Given the description of an element on the screen output the (x, y) to click on. 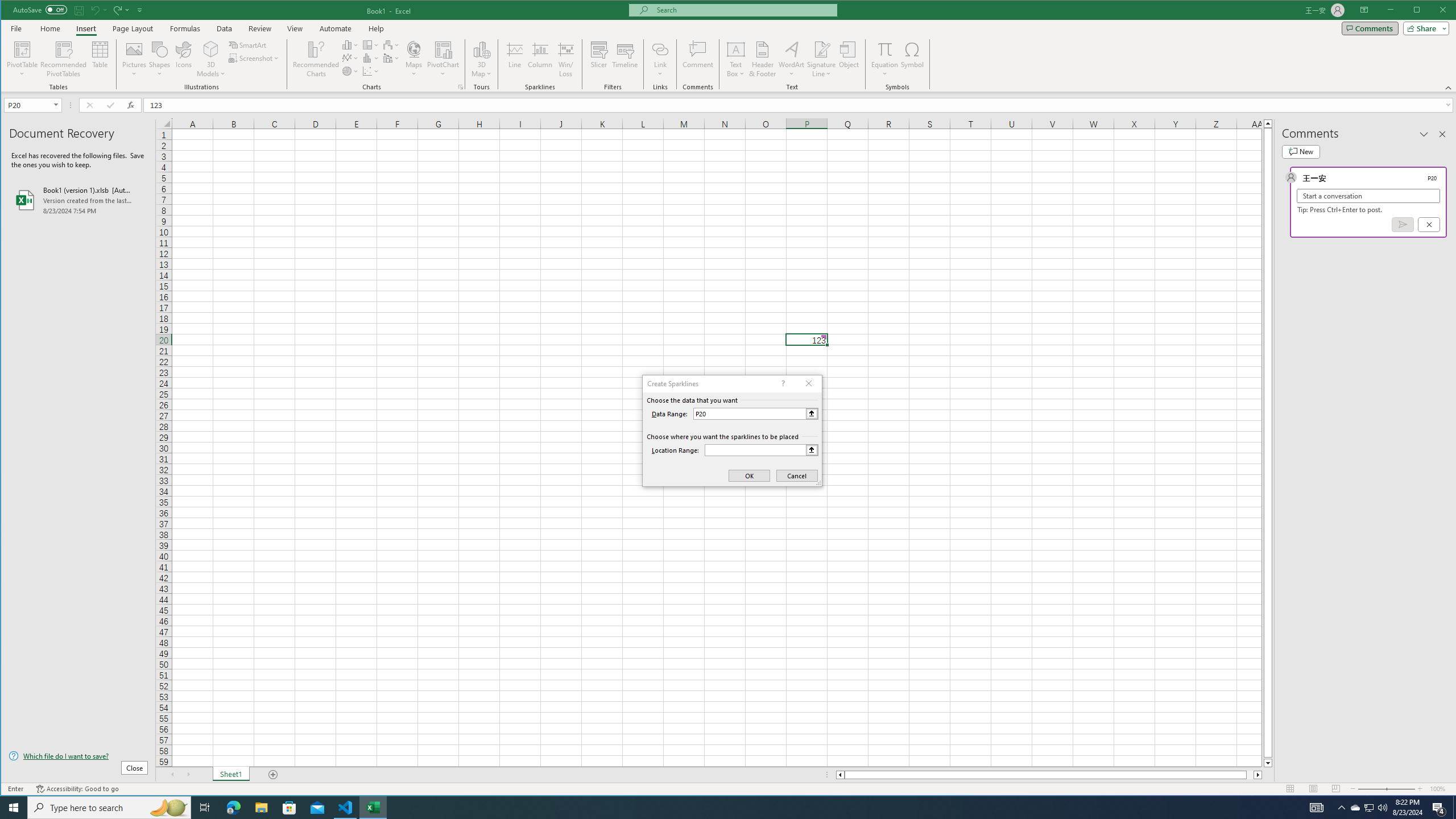
Slicer... (598, 59)
Comment (697, 59)
Insert Hierarchy Chart (371, 44)
SmartArt... (248, 44)
Insert Waterfall, Funnel, Stock, Surface, or Radar Chart (391, 44)
Line (514, 59)
Maps (413, 59)
Link (659, 59)
Recommended Charts (460, 86)
PivotChart (443, 48)
